Given the description of an element on the screen output the (x, y) to click on. 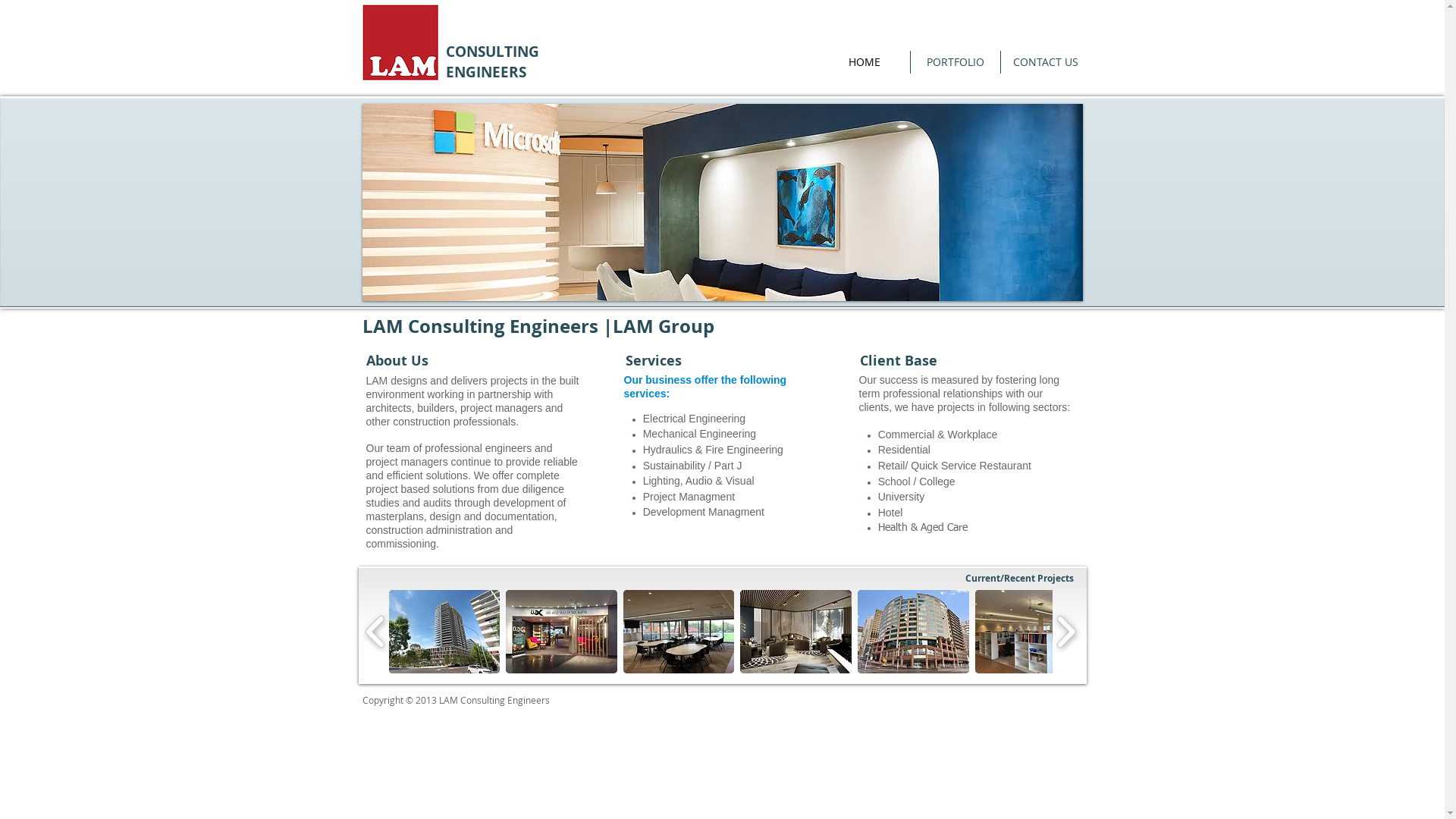
HOME Element type: text (864, 61)
Embedded Content Element type: hover (903, 164)
PORTFOLIO Element type: text (954, 61)
CONTACT US Element type: text (1045, 61)
